Given the description of an element on the screen output the (x, y) to click on. 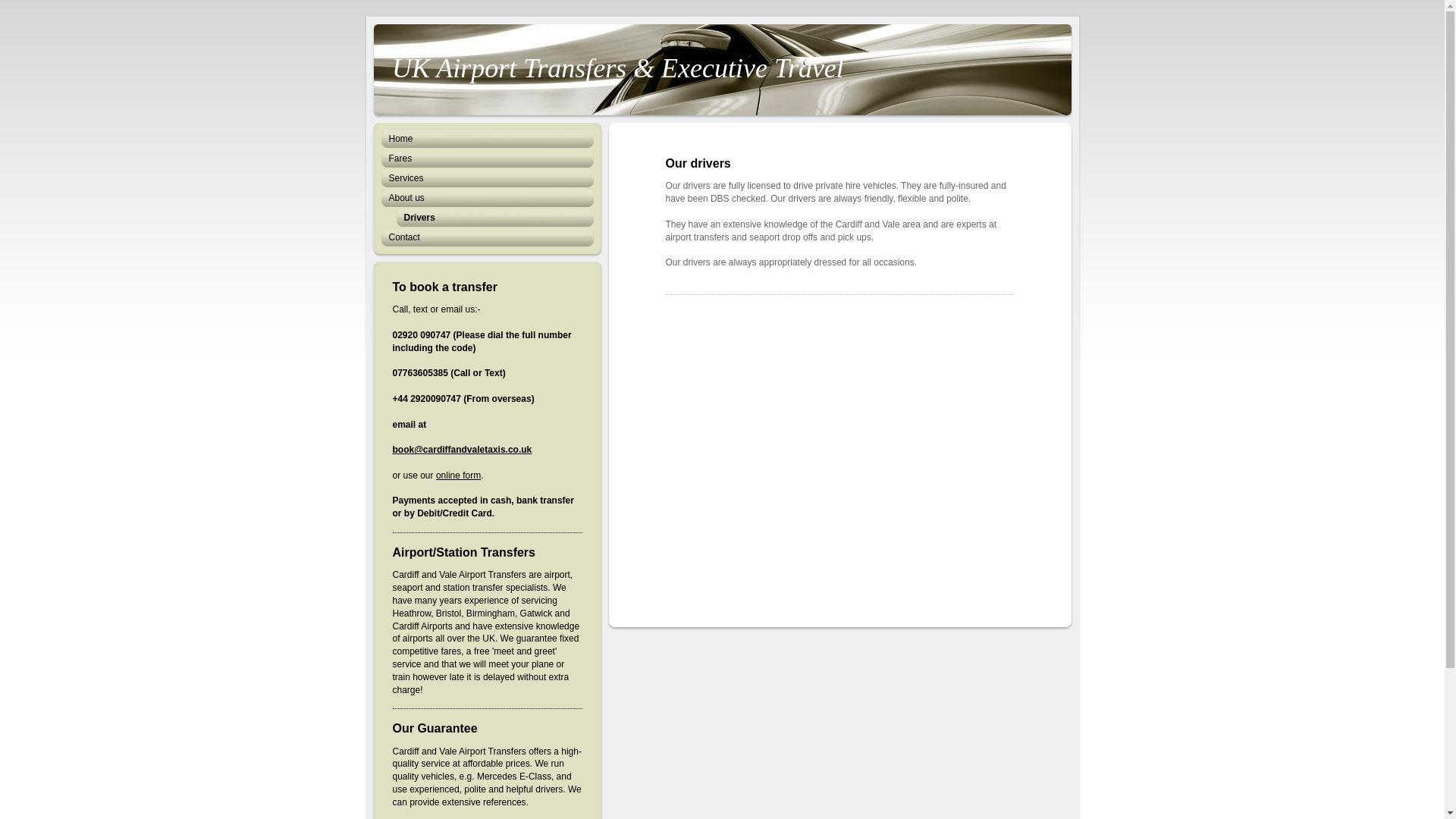
Fares (486, 158)
Contact (486, 237)
Drivers (486, 217)
About us (486, 198)
Services (486, 178)
online form (457, 475)
Home (486, 138)
